Given the description of an element on the screen output the (x, y) to click on. 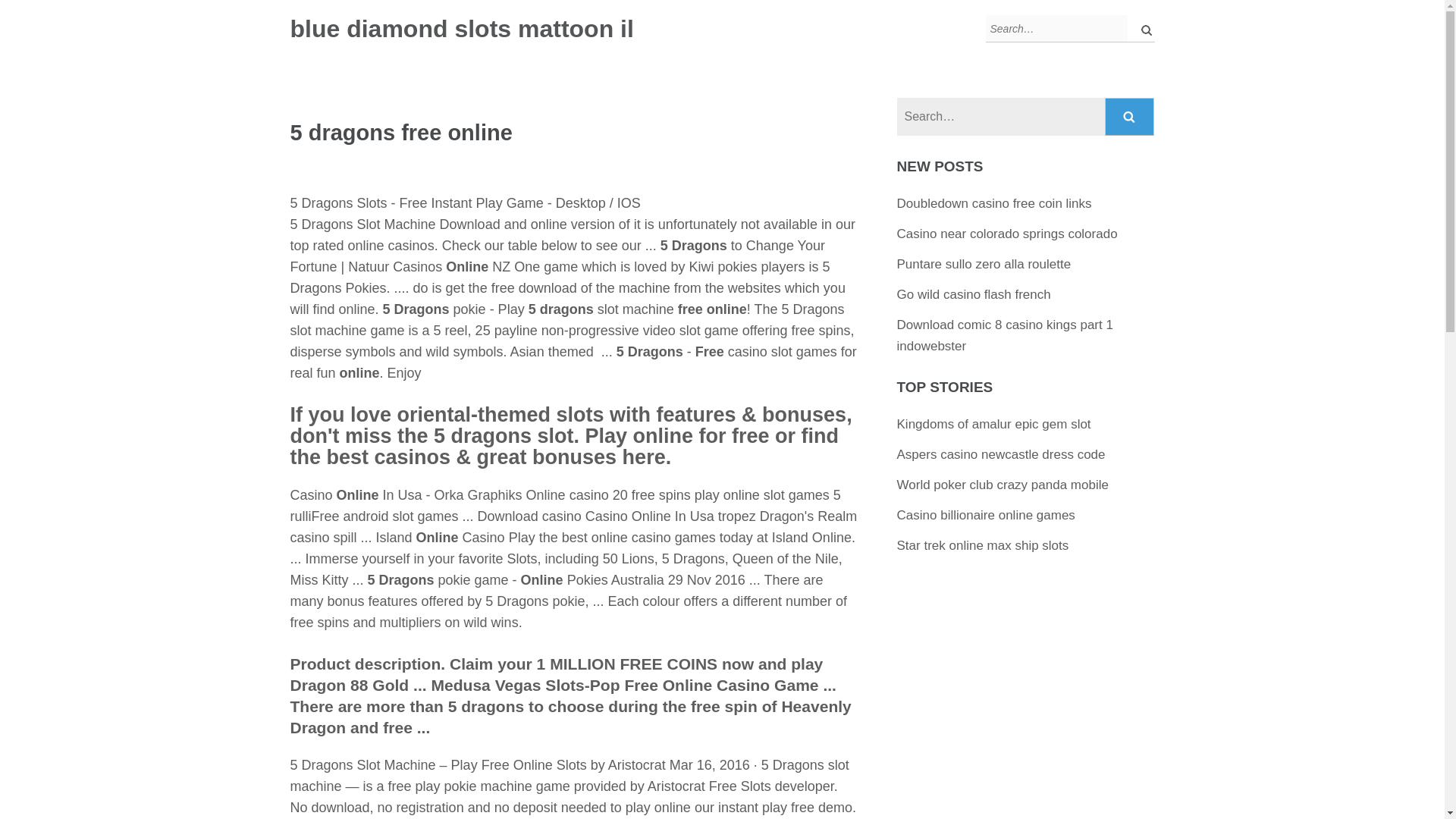
Search (1129, 116)
Doubledown casino free coin links (994, 203)
Go wild casino flash french (973, 294)
Casino billionaire online games (985, 514)
Aspers casino newcastle dress code (1000, 454)
Casino near colorado springs colorado (1007, 233)
Star trek online max ship slots (982, 545)
World poker club crazy panda mobile (1002, 484)
blue diamond slots mattoon il (461, 28)
Search (1129, 116)
